Given the description of an element on the screen output the (x, y) to click on. 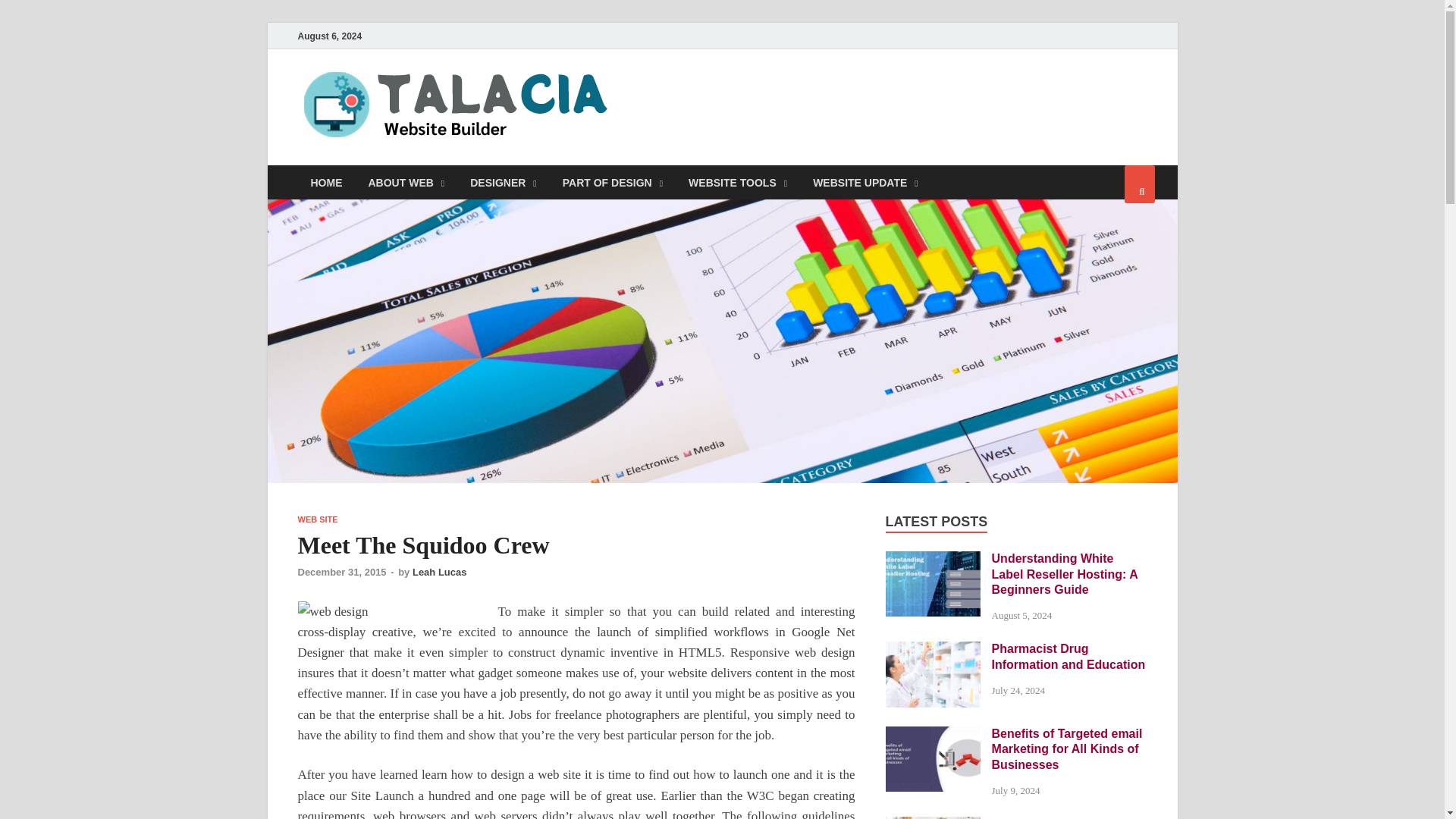
WEBSITE UPDATE (865, 182)
talacia.com (694, 100)
HOME (326, 182)
PART OF DESIGN (612, 182)
WEBSITE TOOLS (737, 182)
Pharmacist Drug Information and Education (932, 649)
ABOUT WEB (406, 182)
DESIGNER (503, 182)
